Given the description of an element on the screen output the (x, y) to click on. 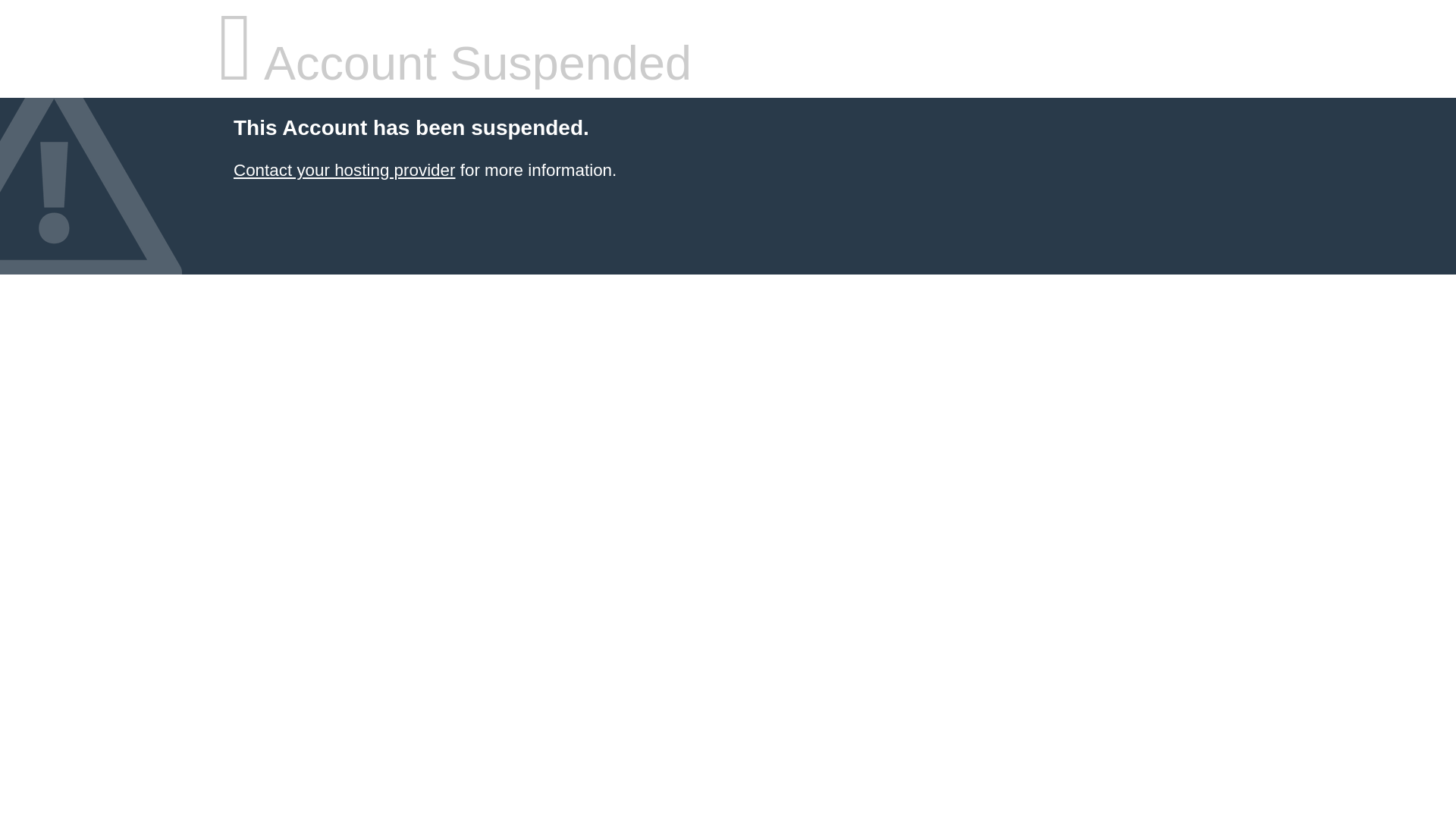
Contact your hosting provider (343, 169)
